Given the description of an element on the screen output the (x, y) to click on. 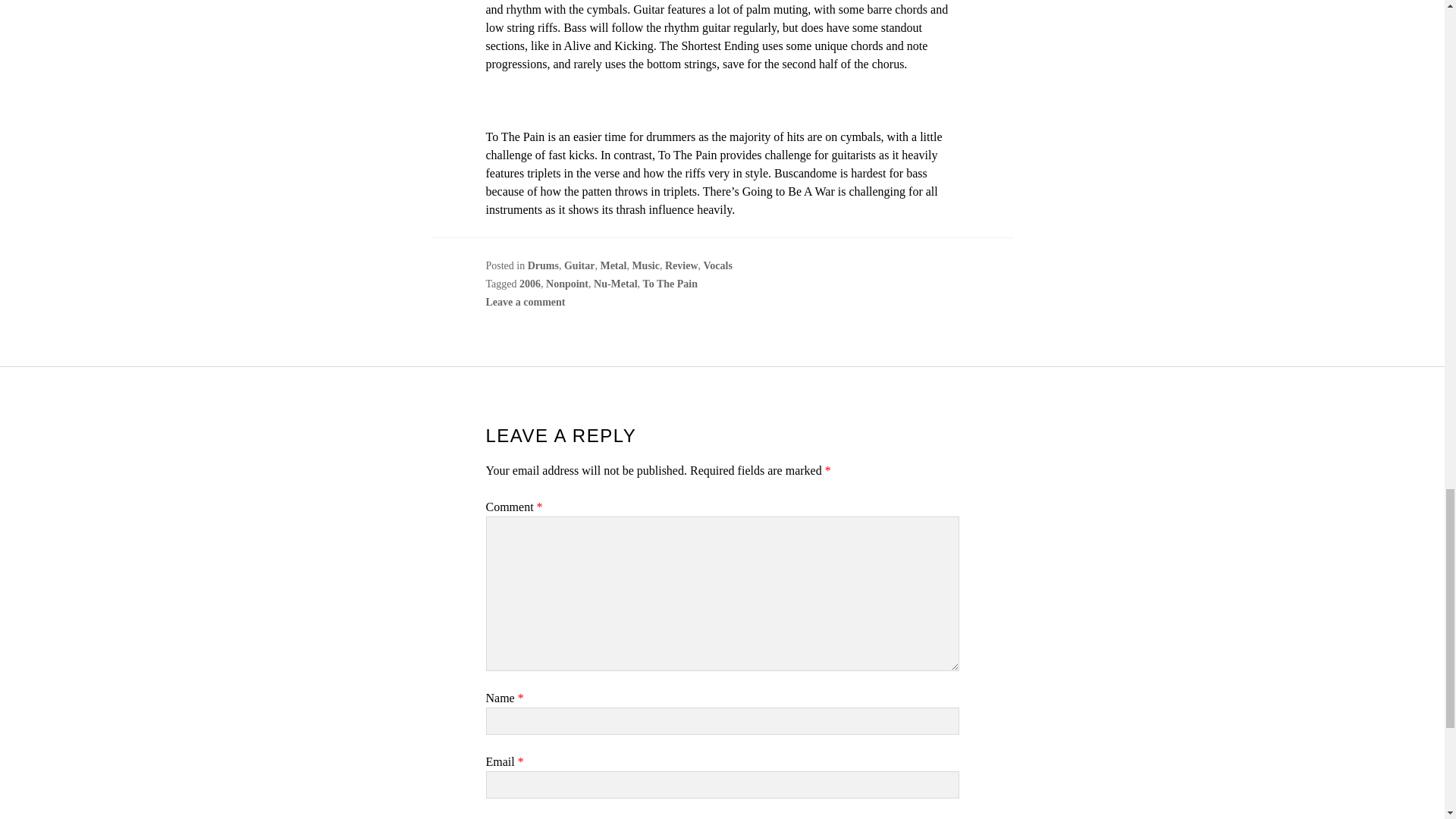
To The Pain (670, 283)
Review (681, 265)
Metal (612, 265)
Music (645, 265)
2006 (529, 283)
Nu-Metal (615, 283)
Guitar (579, 265)
Leave a comment (524, 301)
Vocals (717, 265)
Nonpoint (567, 283)
Drums (543, 265)
